Given the description of an element on the screen output the (x, y) to click on. 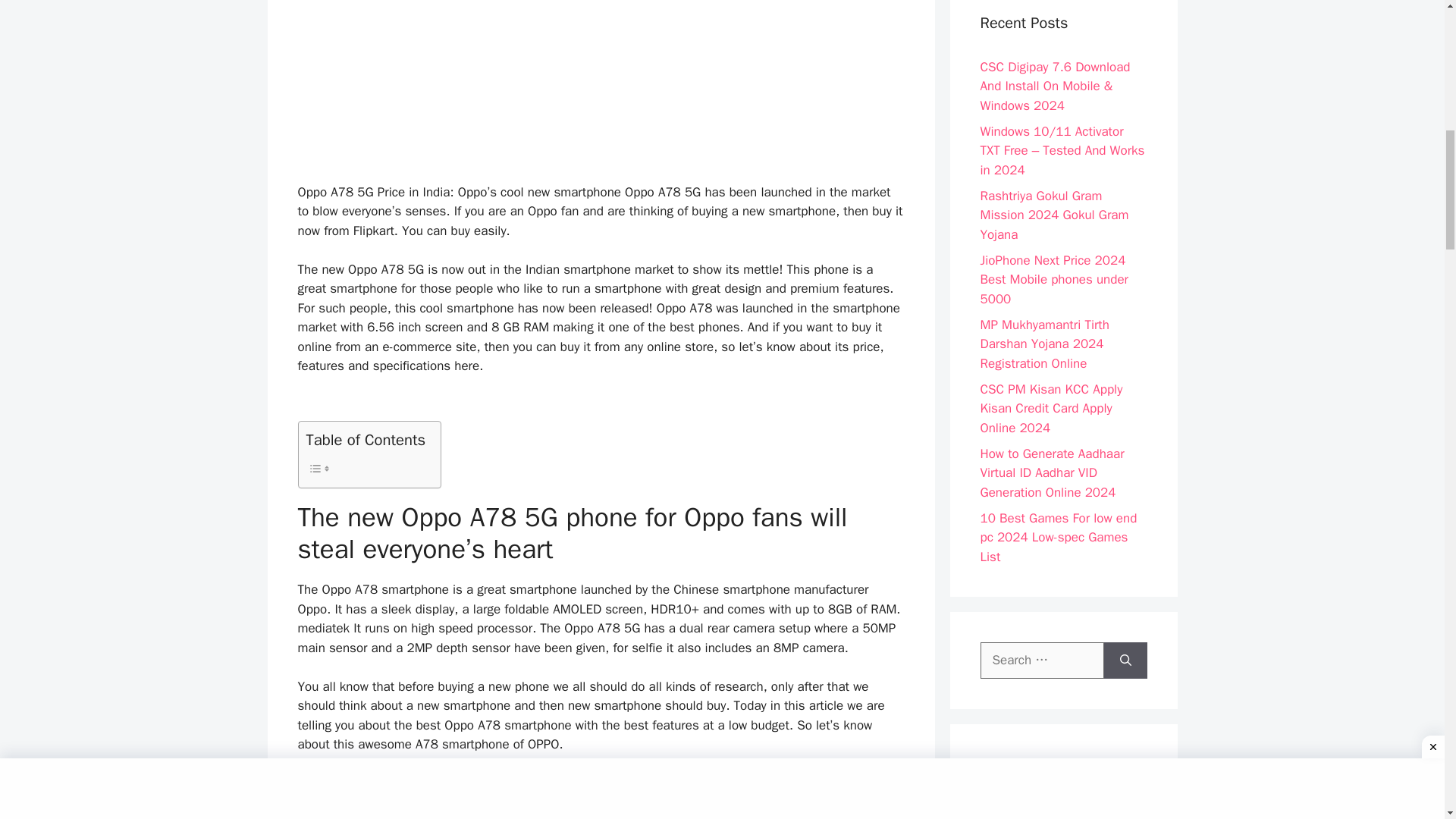
Advertisement (600, 85)
Rashtriya Gokul Gram Mission 2024 Gokul Gram Yojana (1053, 215)
Advertisement (600, 796)
